Given the description of an element on the screen output the (x, y) to click on. 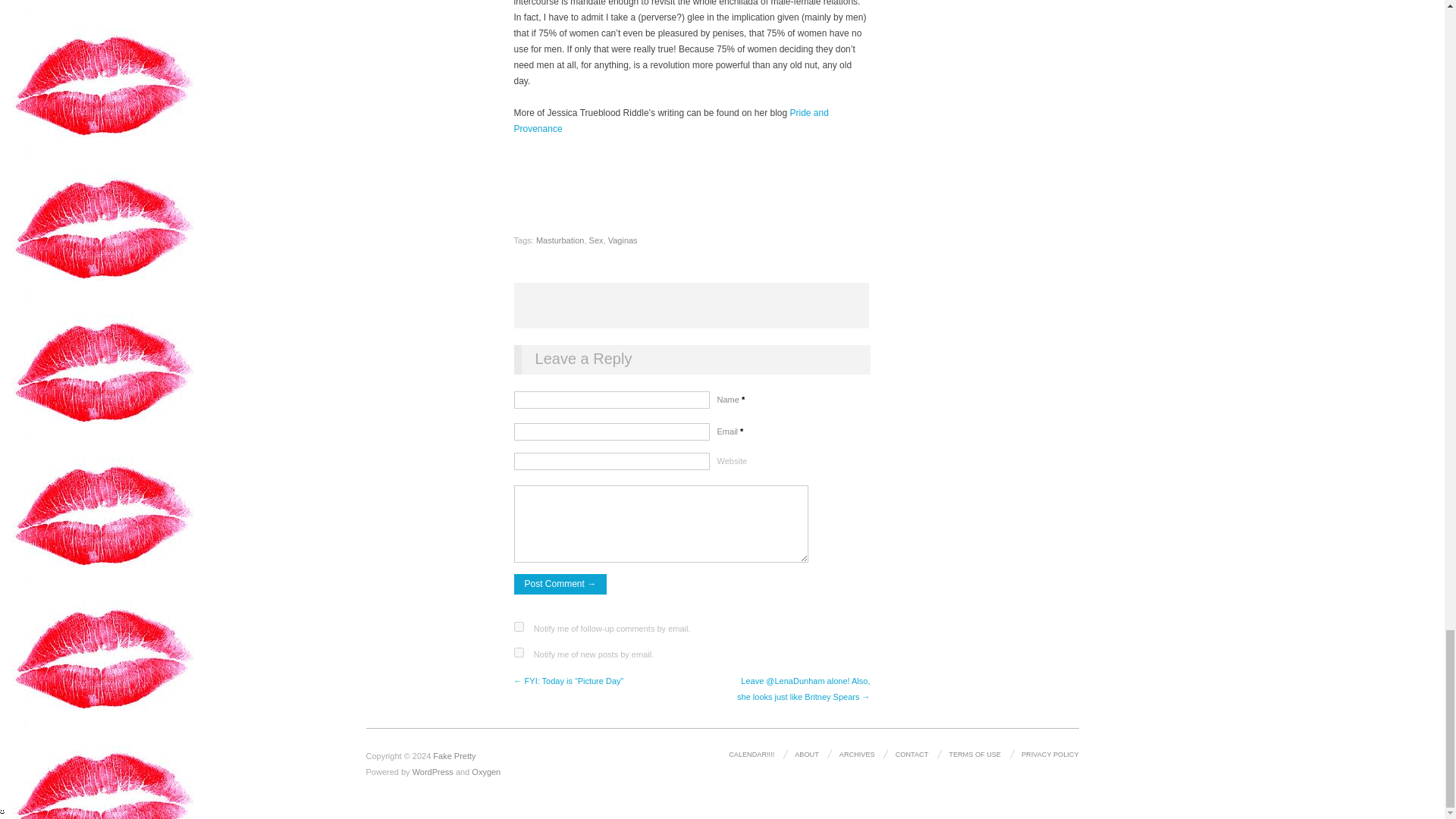
subscribe (518, 652)
Advertisement (691, 305)
subscribe (518, 626)
